Given the description of an element on the screen output the (x, y) to click on. 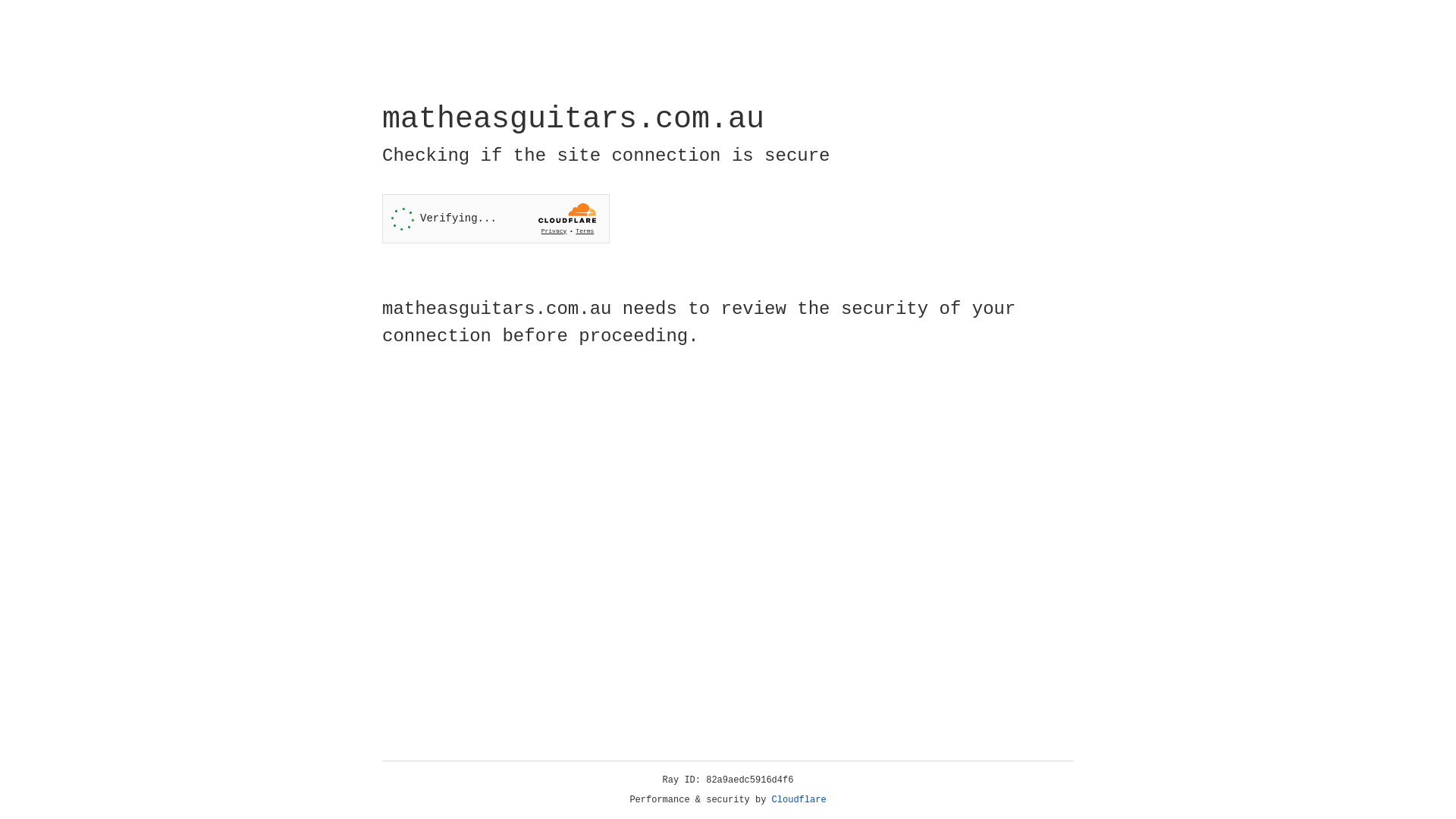
Cloudflare Element type: text (798, 799)
Widget containing a Cloudflare security challenge Element type: hover (495, 218)
